Given the description of an element on the screen output the (x, y) to click on. 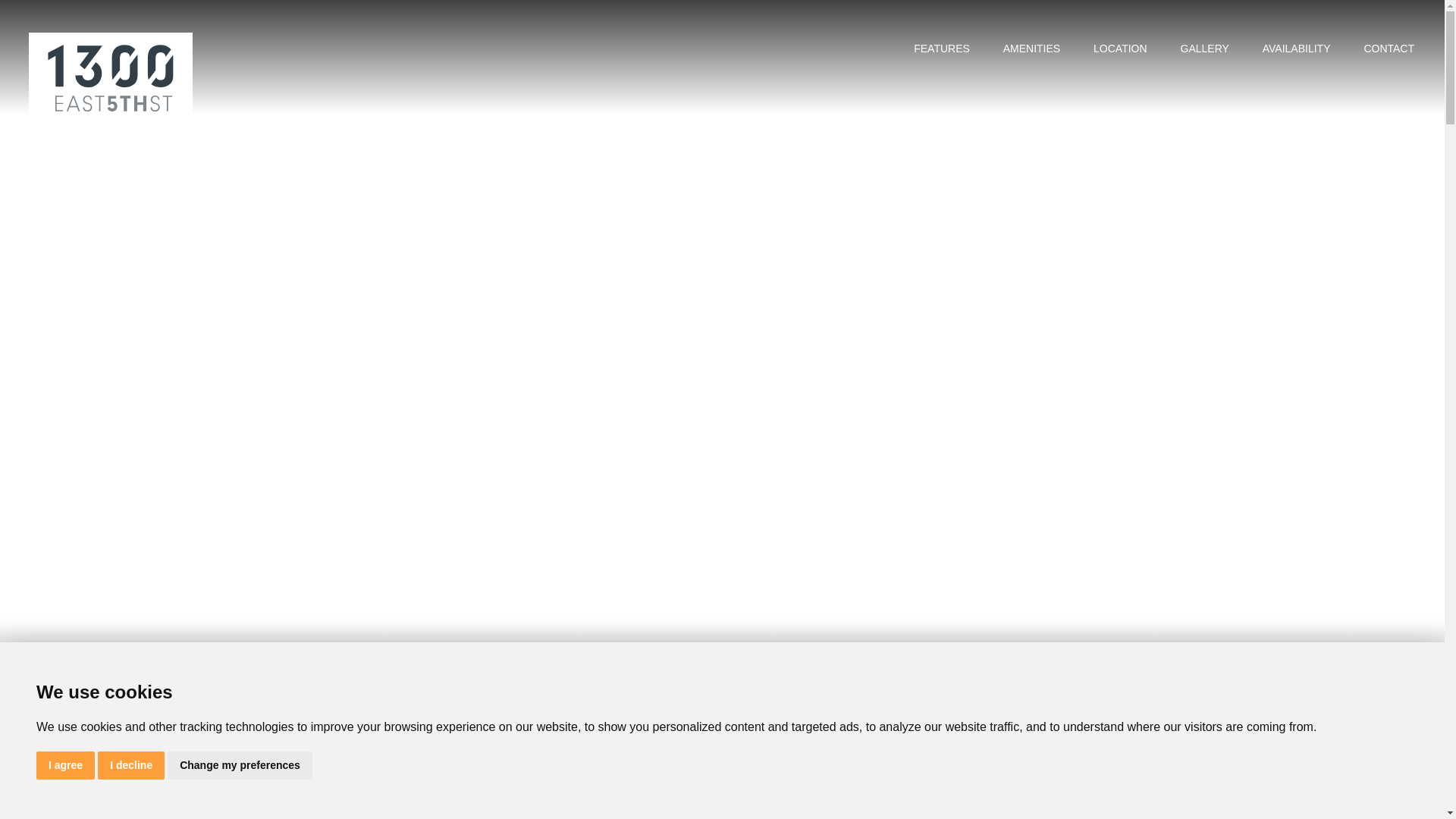
AMENITIES Element type: text (1031, 45)
FEATURES Element type: text (941, 45)
I agree Element type: text (65, 765)
I decline Element type: text (130, 765)
LOCATION Element type: text (1120, 45)
GALLERY Element type: text (1203, 45)
AVAILABILITY Element type: text (1296, 45)
CONTACT Element type: text (1388, 45)
Change my preferences Element type: text (239, 765)
